Given the description of an element on the screen output the (x, y) to click on. 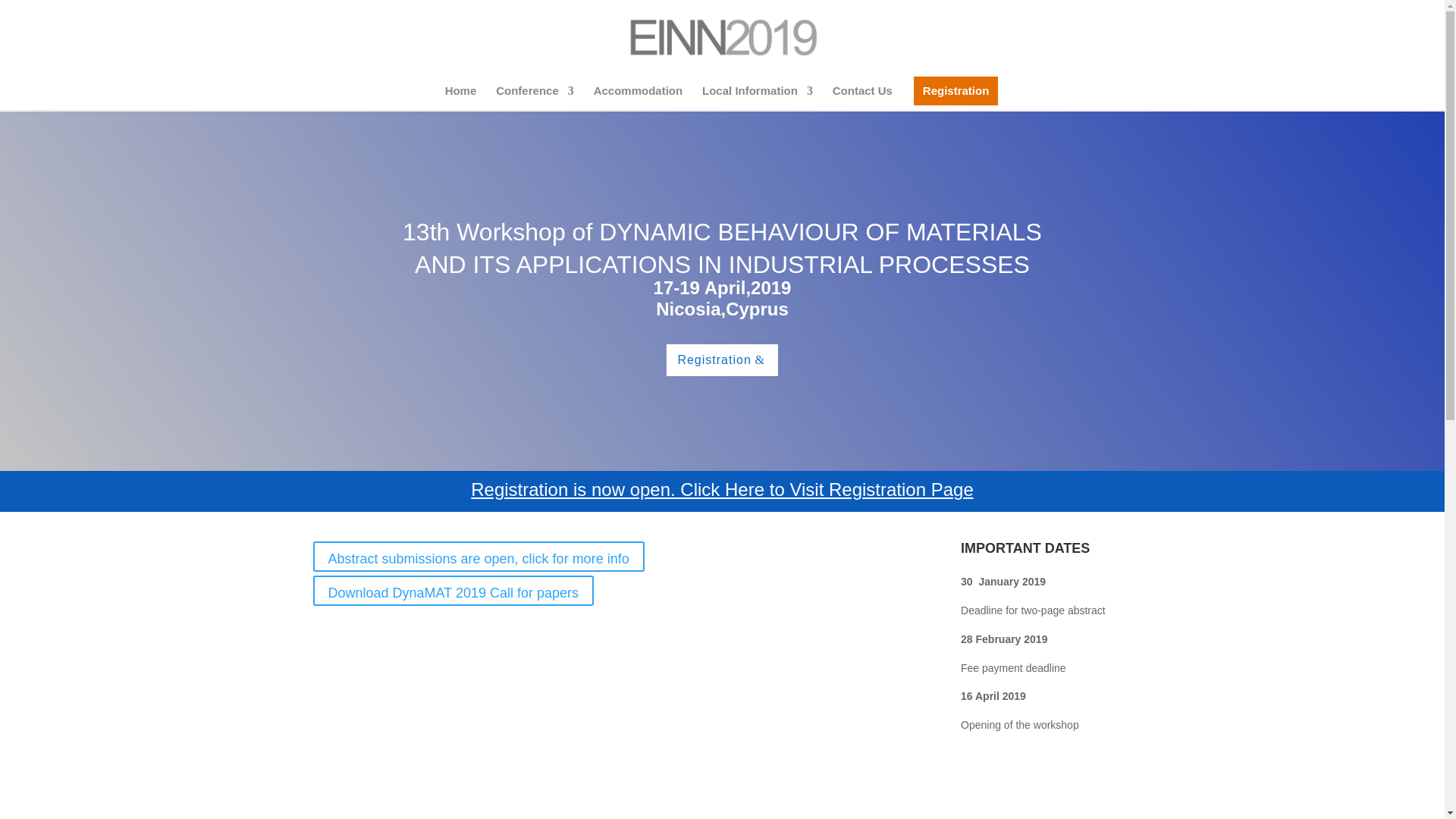
Contact Us (862, 97)
Conference (534, 97)
Local Information (756, 97)
Home (461, 97)
Registration (956, 97)
Accommodation (638, 97)
Registration (721, 400)
Abstract submissions are open, click for more info (478, 596)
Download DynaMAT 2019 Call for papers (453, 630)
